Given the description of an element on the screen output the (x, y) to click on. 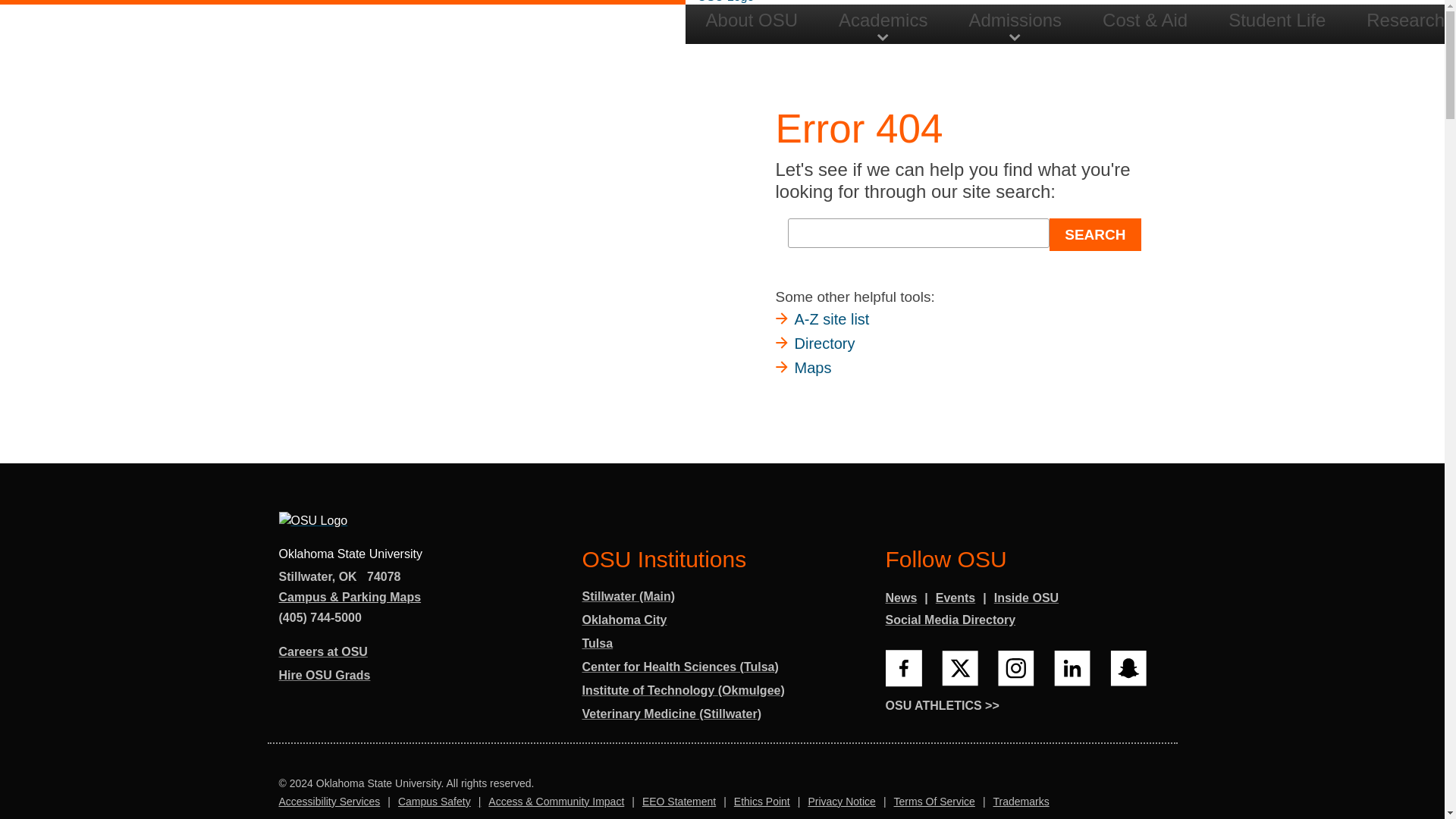
About OSU (751, 20)
Directory (1409, 23)
Academics (882, 20)
Admissions (1014, 20)
myOKSTATE (1346, 23)
Current Students (1192, 23)
Stillwater, OK 74078 (340, 578)
Search (1317, 145)
Oklahoma (347, 576)
